Given the description of an element on the screen output the (x, y) to click on. 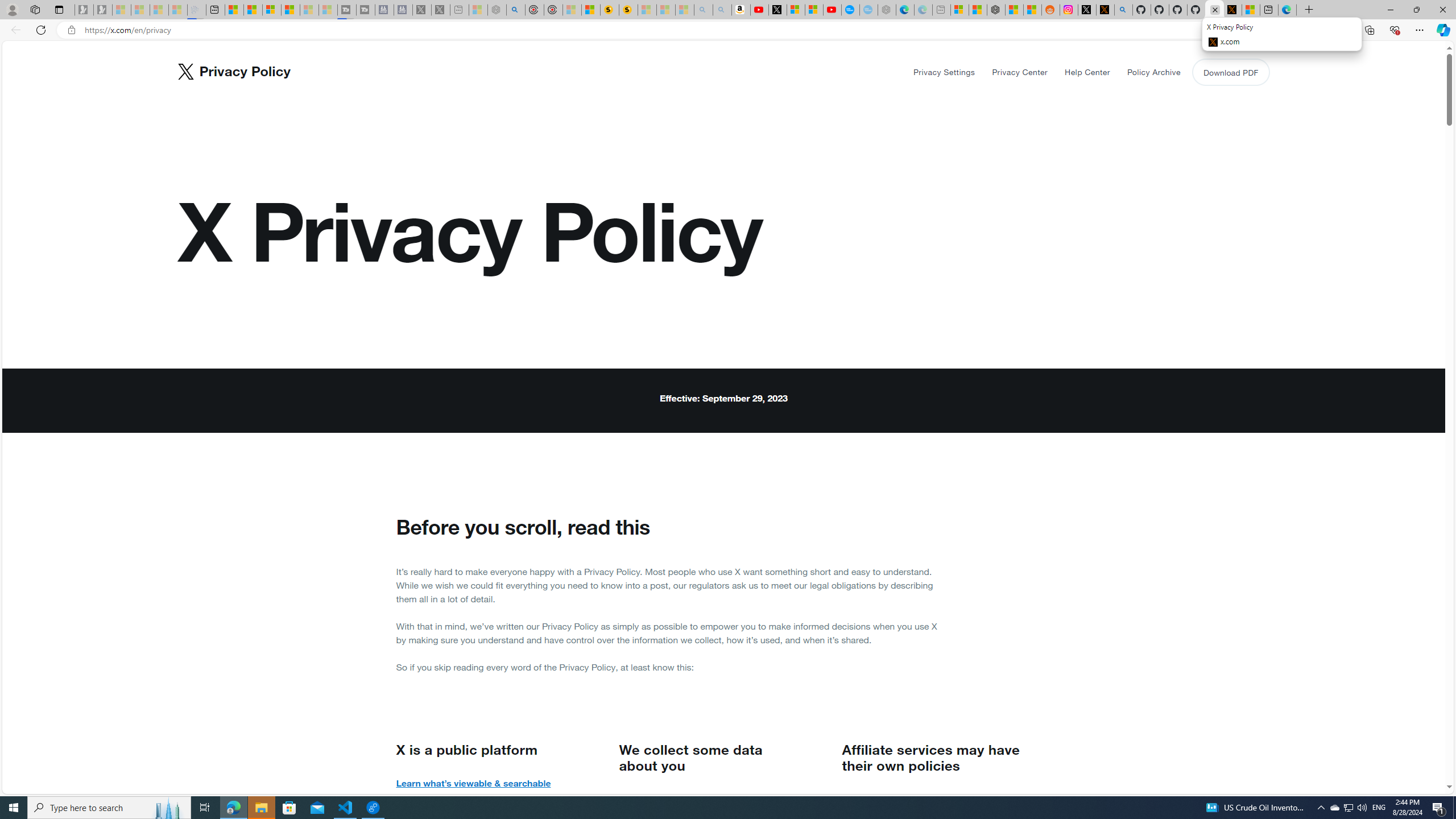
Log in to X / X (1086, 9)
Privacy Settings (943, 71)
Help Center (1086, 71)
Nordace - Duffels (996, 9)
Microsoft account | Microsoft Account Privacy Settings (960, 9)
Michelle Starr, Senior Journalist at ScienceAlert (628, 9)
The most popular Google 'how to' searches - Sleeping (868, 9)
Download PDF (1230, 71)
